Given the description of an element on the screen output the (x, y) to click on. 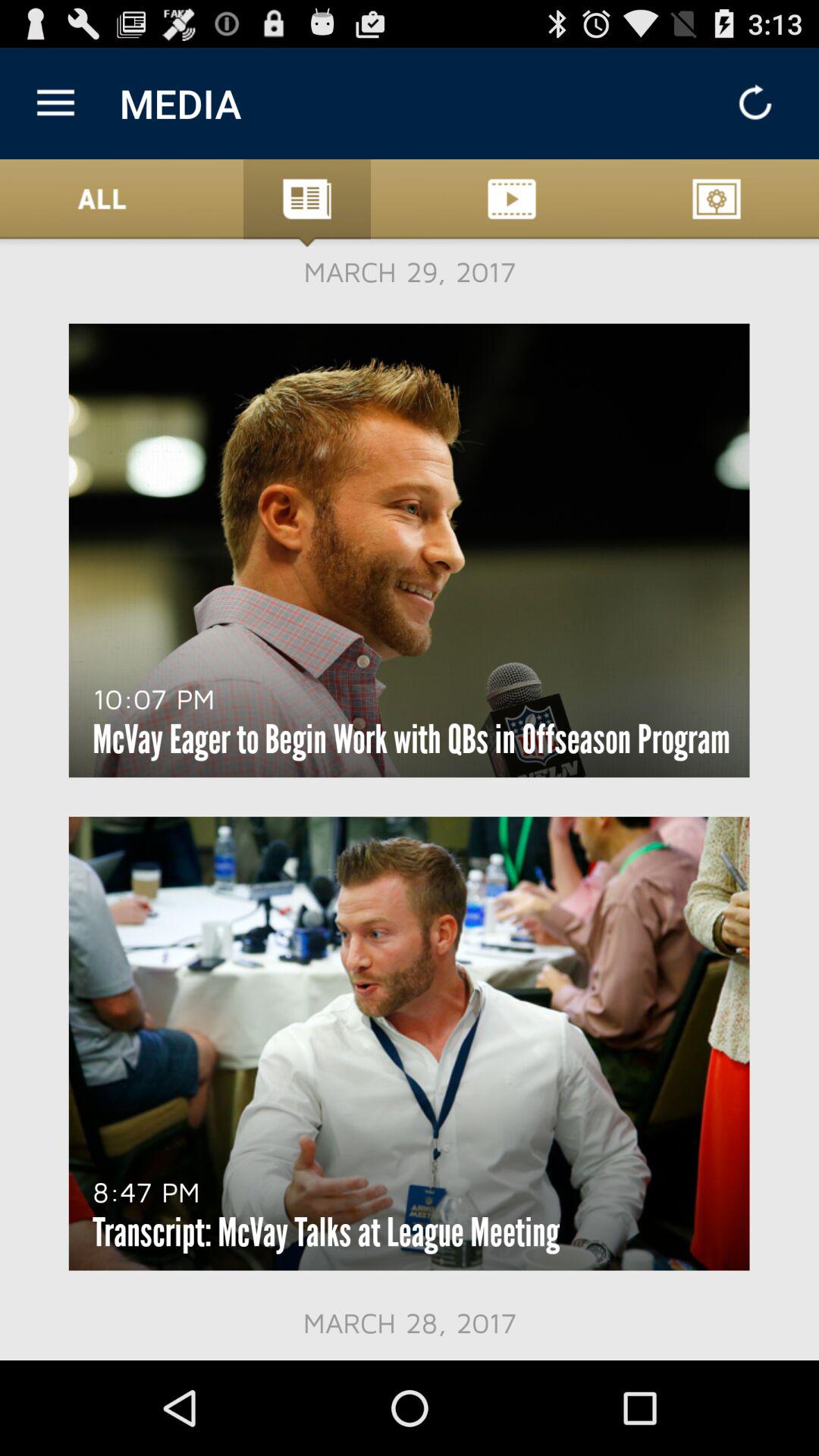
turn off 10:07 pm item (153, 698)
